Given the description of an element on the screen output the (x, y) to click on. 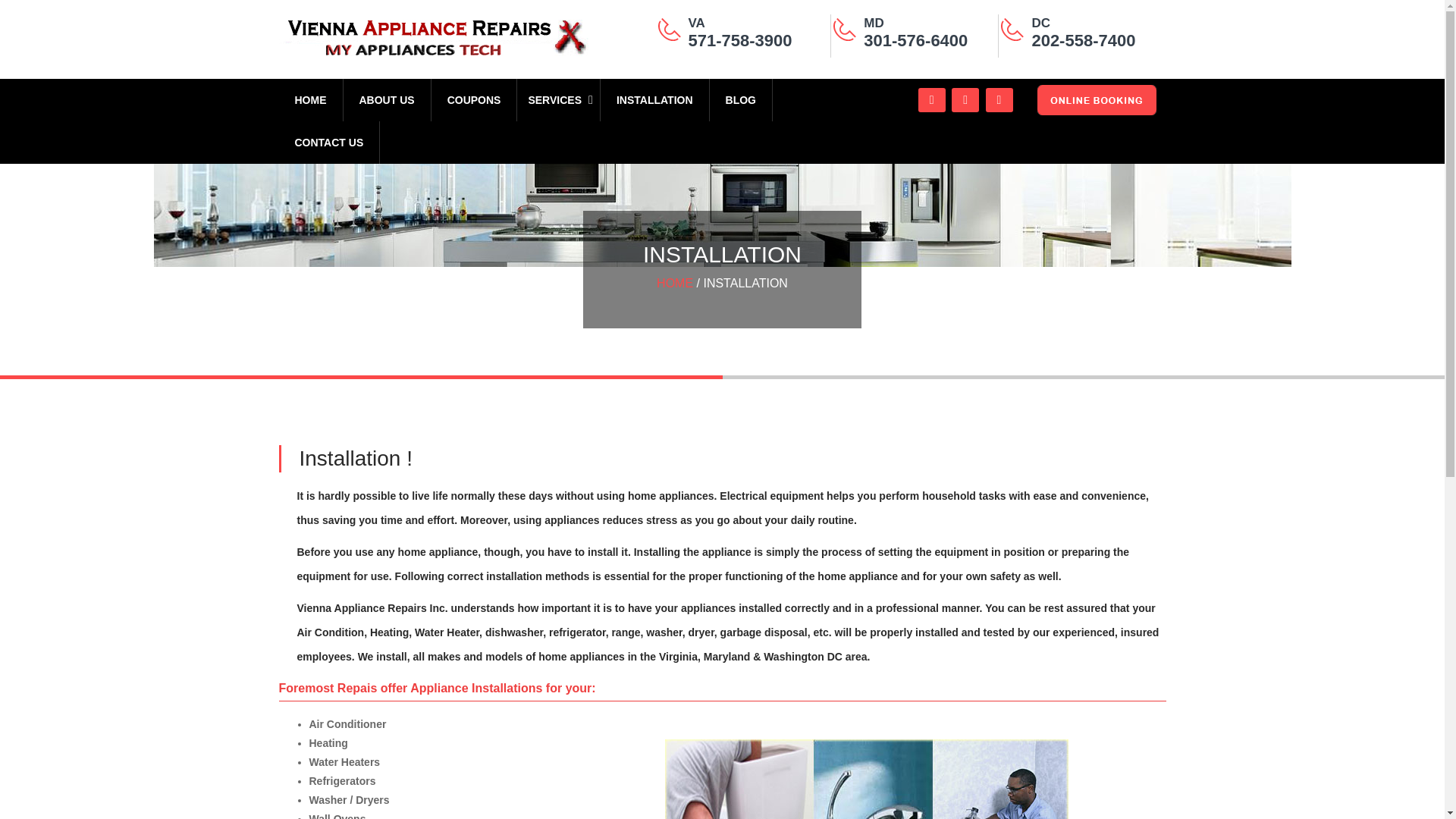
301-576-6400 (915, 40)
ABOUT US (386, 99)
COUPONS (474, 99)
HOME (674, 282)
INSTALLATION (654, 99)
571-758-3900 (740, 40)
SERVICES (557, 99)
202-558-7400 (1082, 40)
HOME (311, 99)
CONTACT US (329, 142)
